Given the description of an element on the screen output the (x, y) to click on. 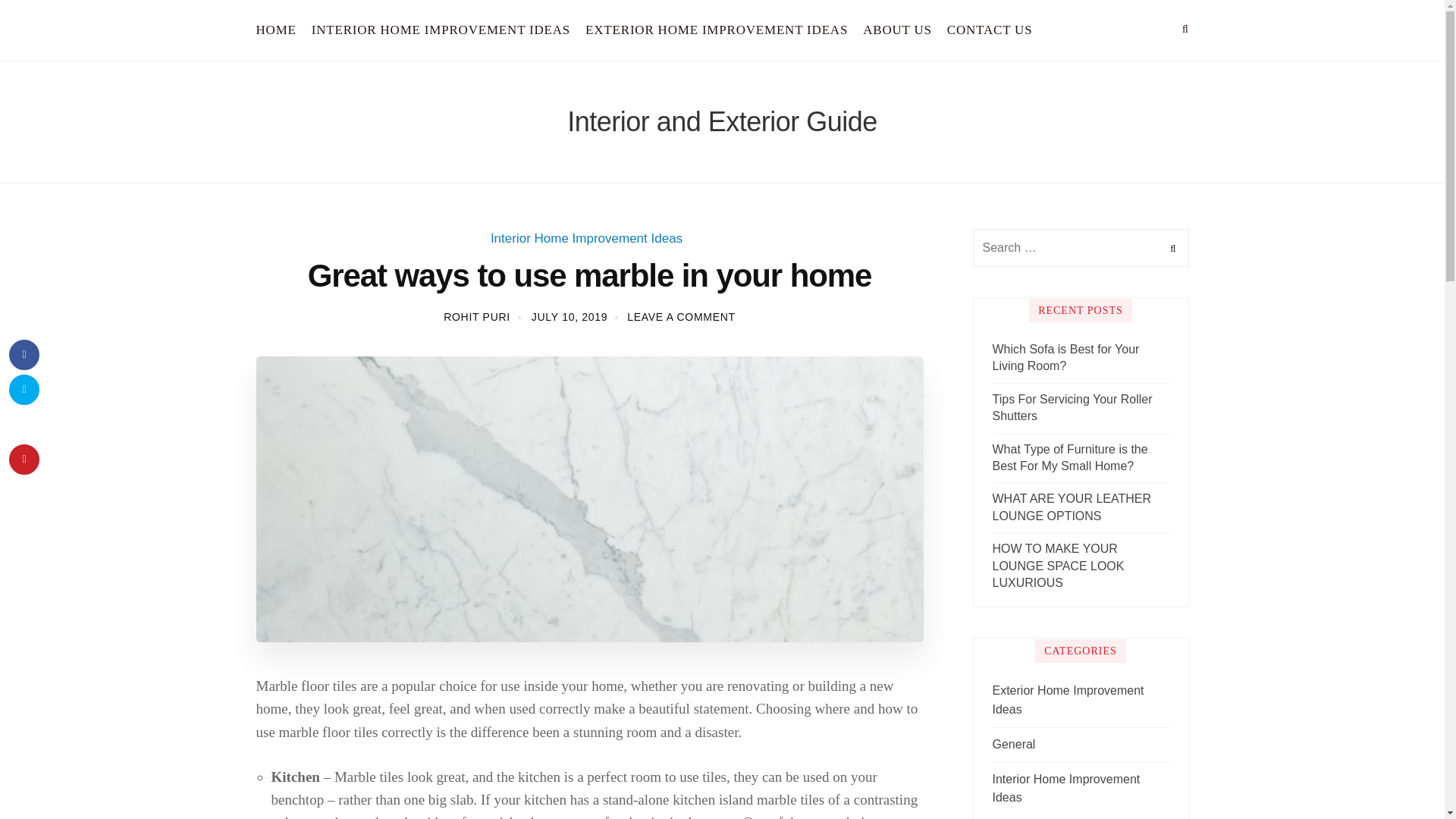
Search (1171, 247)
HOW TO MAKE YOUR LOUNGE SPACE LOOK LUXURIOUS (1080, 565)
Search (1171, 247)
Search (1171, 247)
EXTERIOR HOME IMPROVEMENT IDEAS (717, 30)
CONTACT US (990, 30)
Interior and Exterior Guide (722, 121)
LEAVE A COMMENT (681, 316)
ABOUT US (897, 30)
What Type of Furniture is the Best For My Small Home? (1080, 458)
